Given the description of an element on the screen output the (x, y) to click on. 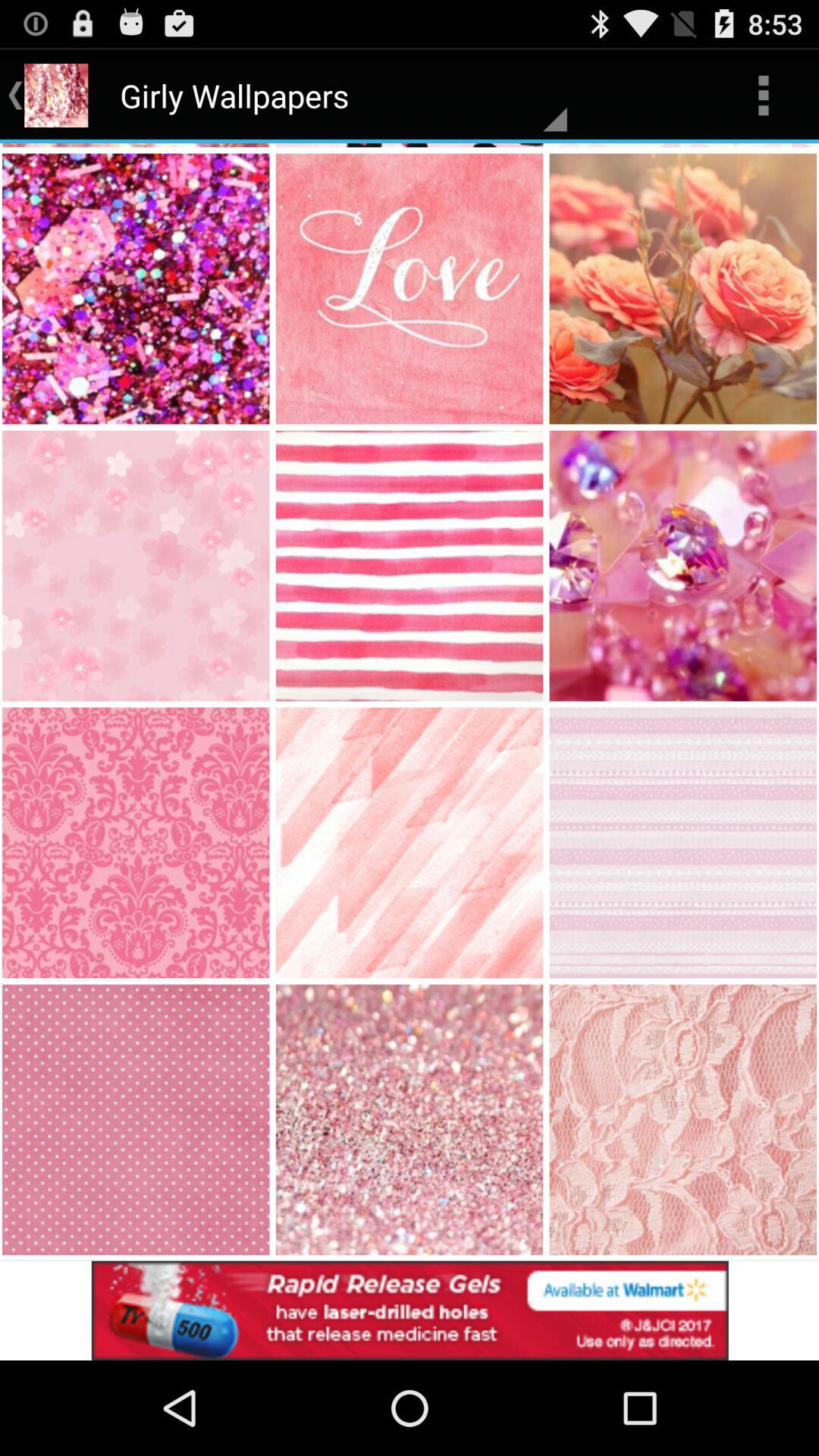
open advertisement (409, 1310)
